Given the description of an element on the screen output the (x, y) to click on. 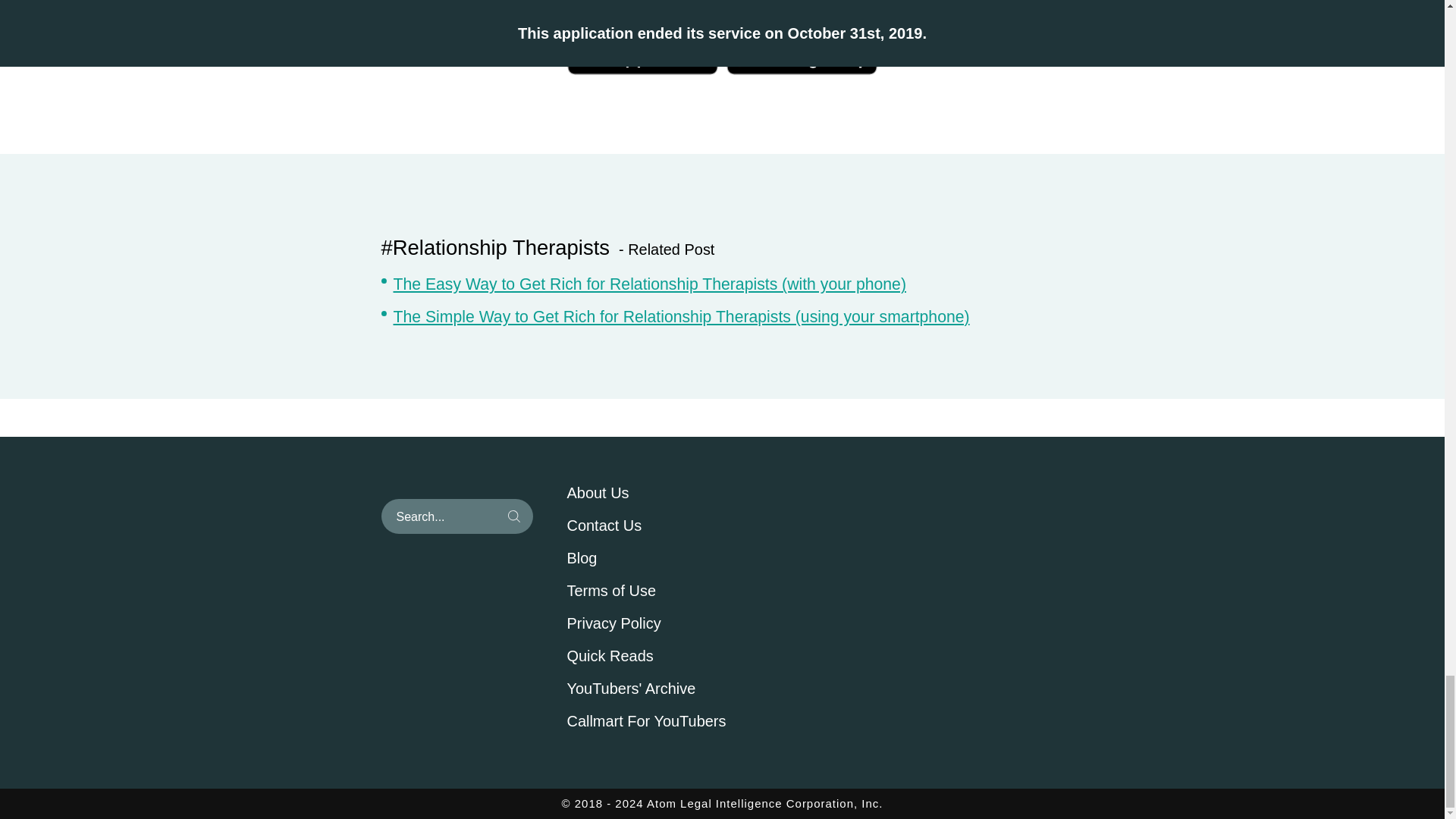
Contact Us (676, 526)
Quick Reads (676, 656)
Privacy Policy (676, 623)
YouTubers' Archive (676, 689)
Terms of Use (676, 590)
About Us (676, 493)
Callmart For YouTubers (676, 721)
Blog (676, 558)
